Given the description of an element on the screen output the (x, y) to click on. 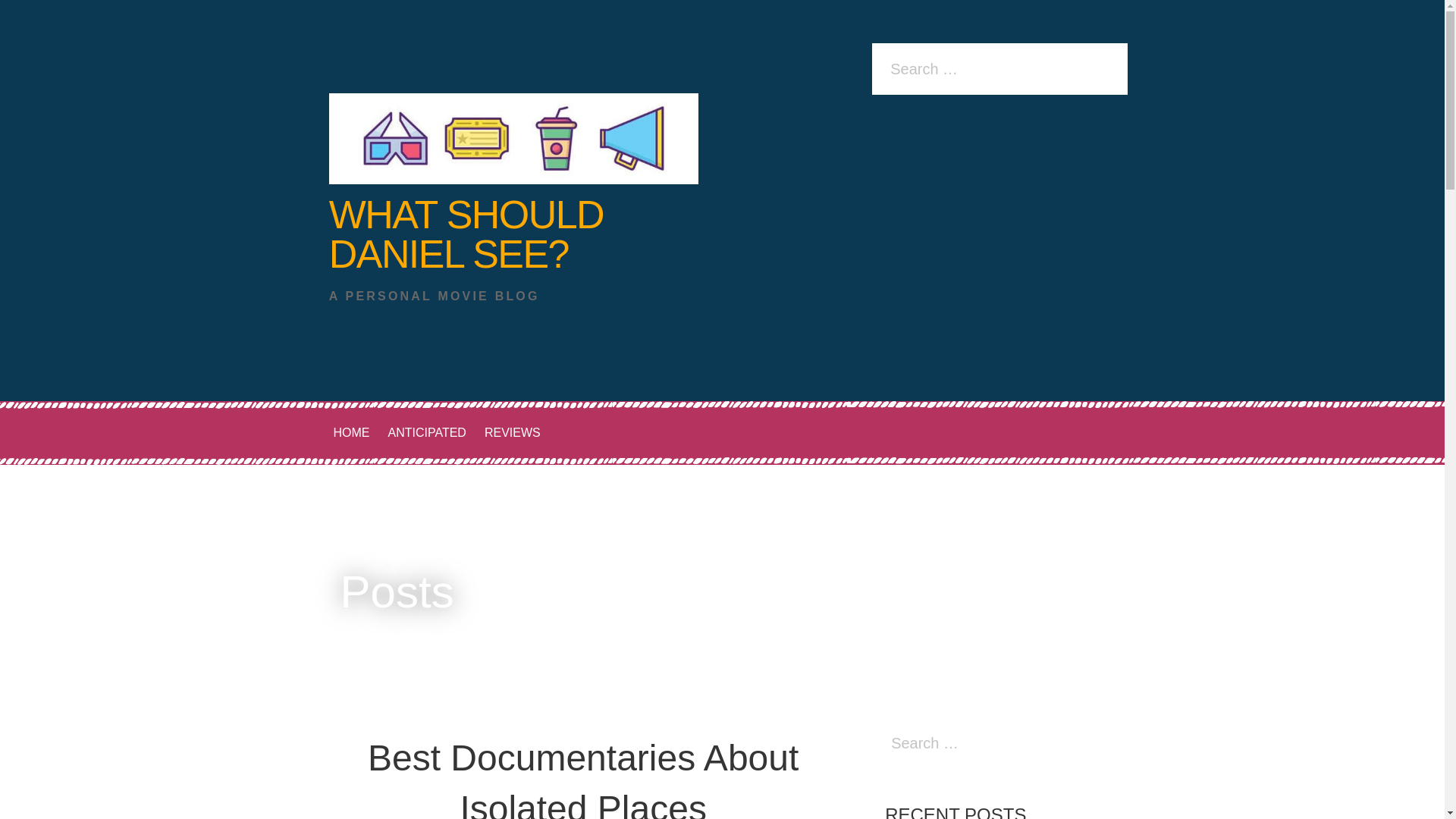
HOME (351, 432)
WHAT SHOULD DANIEL SEE? (466, 234)
REVIEWS (513, 432)
ANTICIPATED (427, 432)
Search (15, 11)
